Given the description of an element on the screen output the (x, y) to click on. 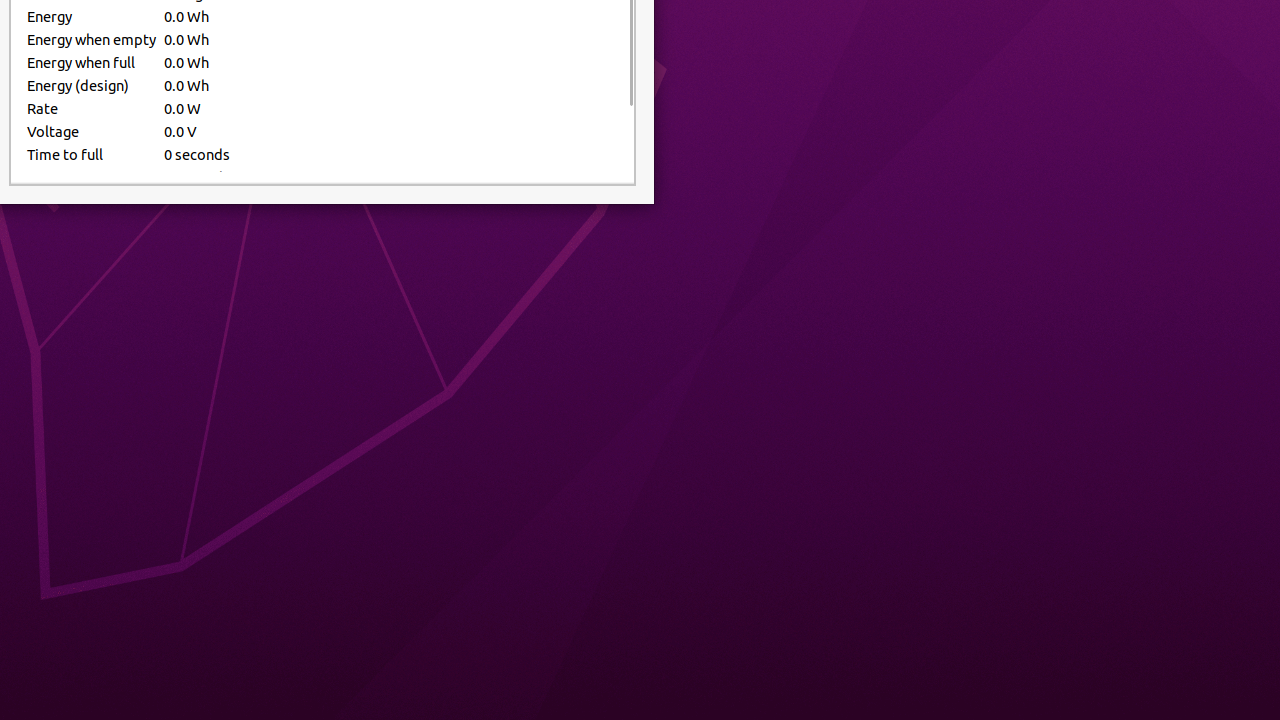
Energy when full Element type: table-cell (91, 62)
Time to full Element type: table-cell (91, 154)
0.0 V Element type: table-cell (391, 131)
Energy (design) Element type: table-cell (91, 85)
Energy when empty Element type: table-cell (91, 39)
